Given the description of an element on the screen output the (x, y) to click on. 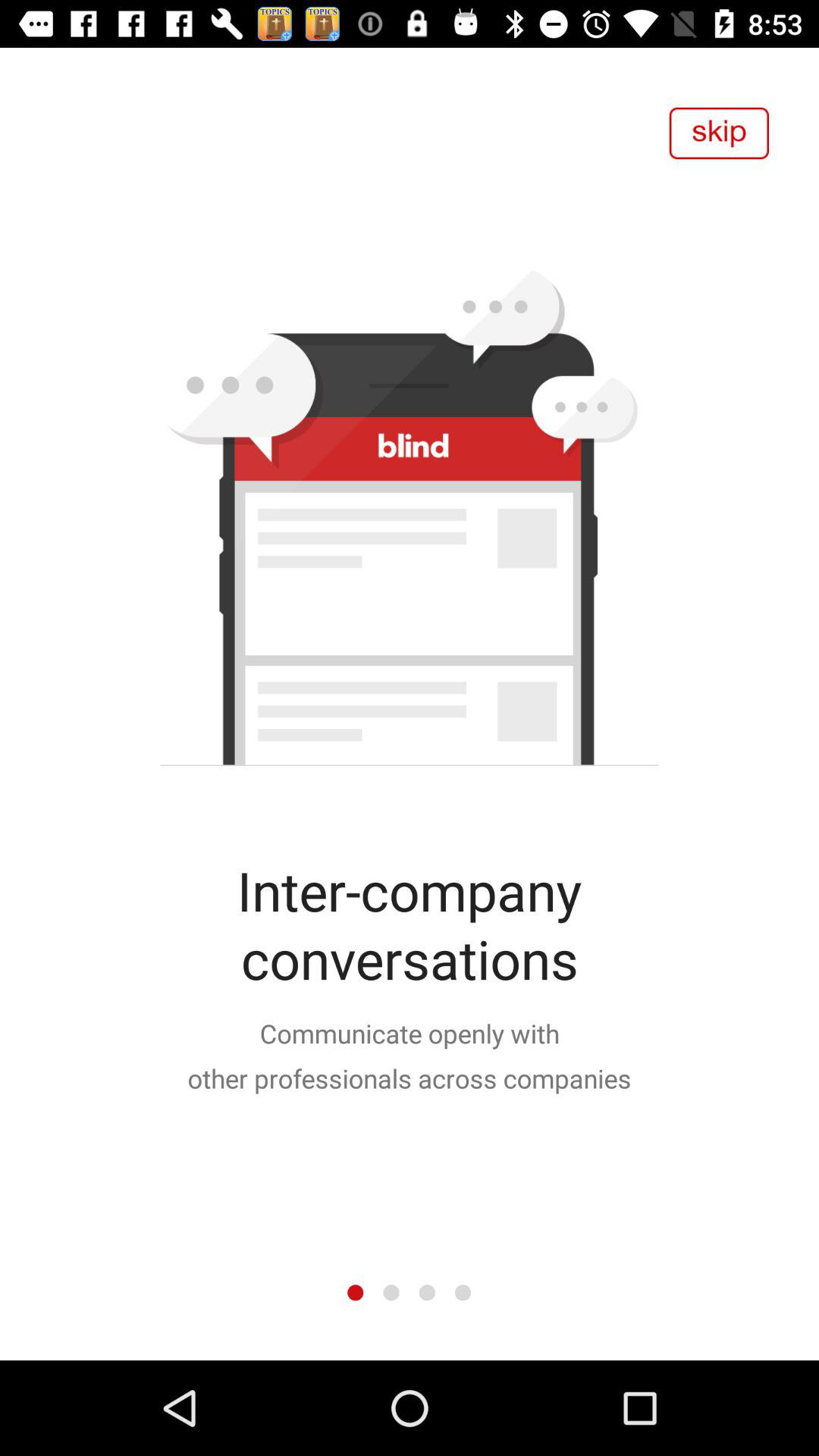
skip to next (718, 133)
